Given the description of an element on the screen output the (x, y) to click on. 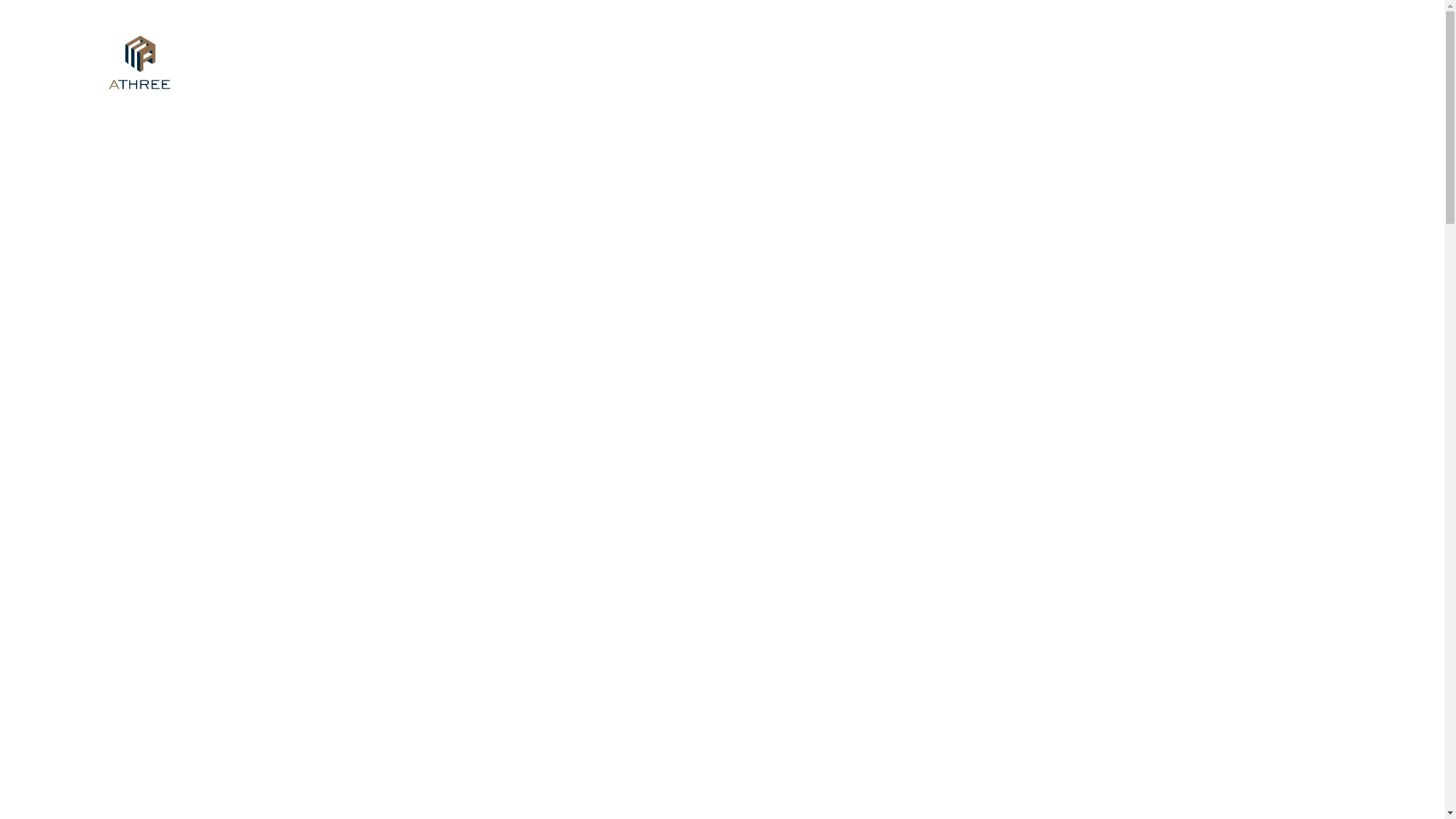
ABOUT US Element type: text (1187, 37)
CONTACT Element type: text (1337, 37)
PROJECTS Element type: text (1264, 37)
HOME Element type: text (1125, 37)
